Given the description of an element on the screen output the (x, y) to click on. 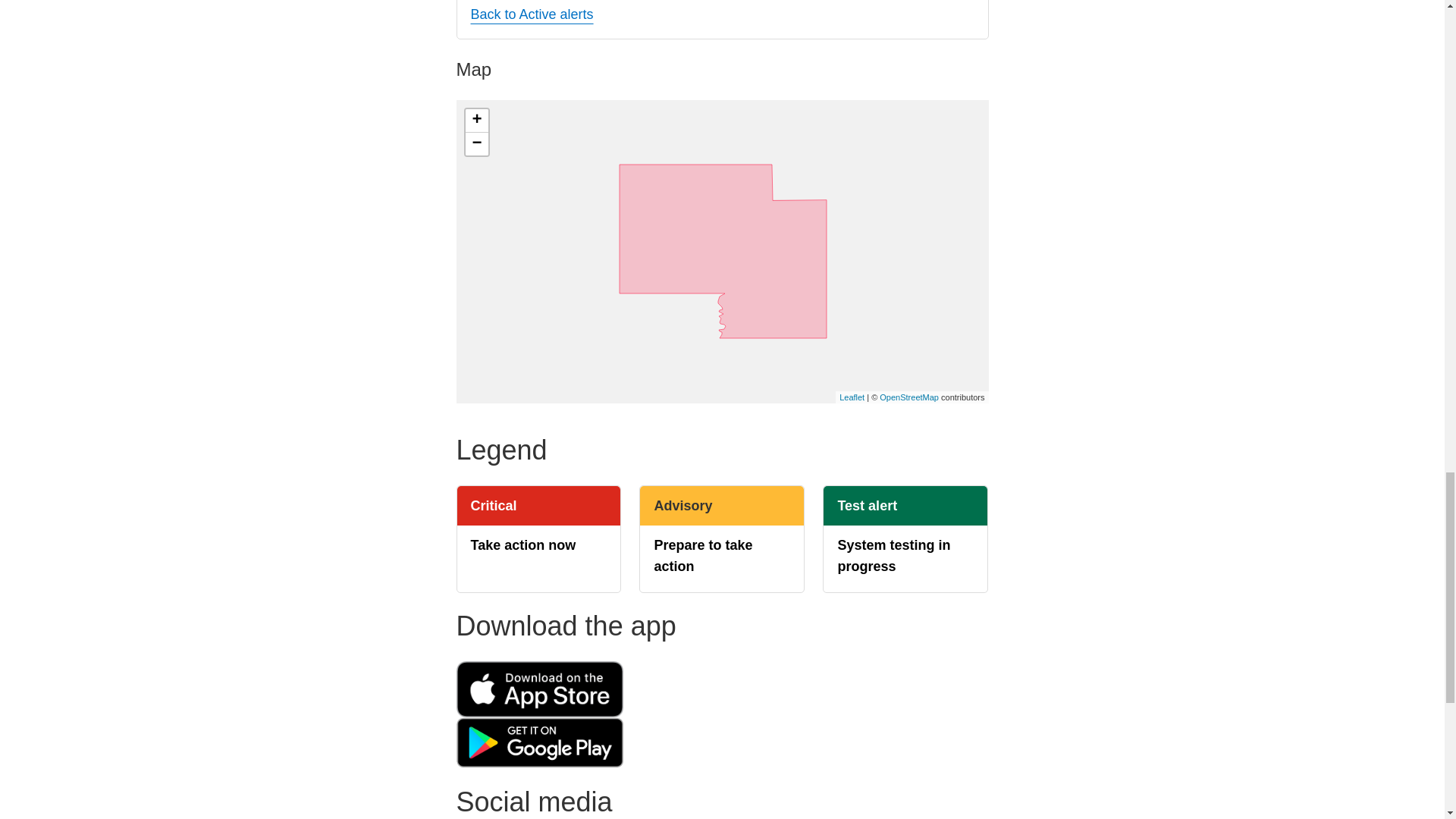
Zoom in (476, 120)
Zoom out (476, 143)
Leaflet (852, 397)
Back to Active alerts (531, 14)
OpenStreetMap (909, 397)
A JS library for interactive maps (852, 397)
